Given the description of an element on the screen output the (x, y) to click on. 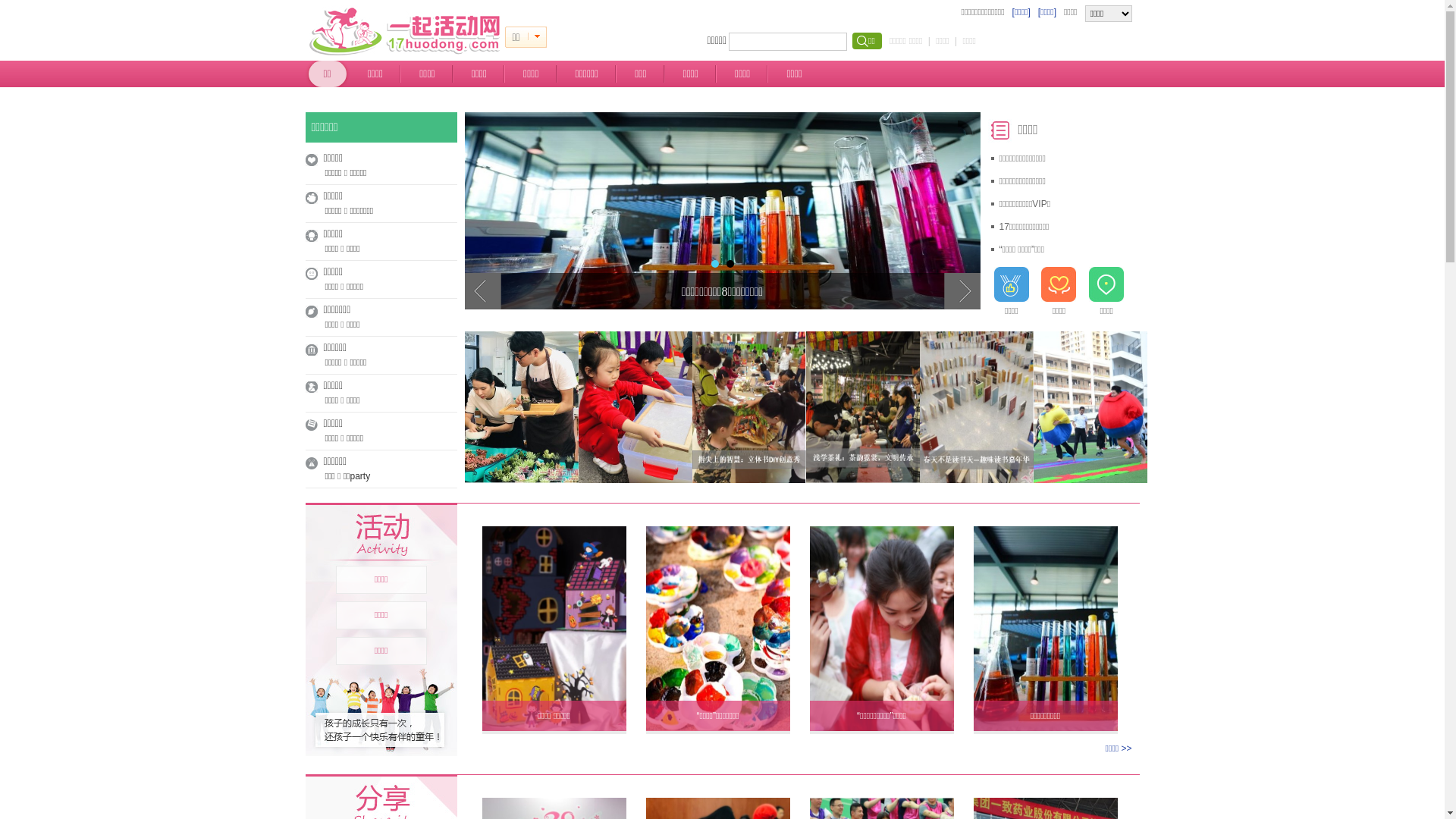
0 Element type: text (536, 36)
